Given the description of an element on the screen output the (x, y) to click on. 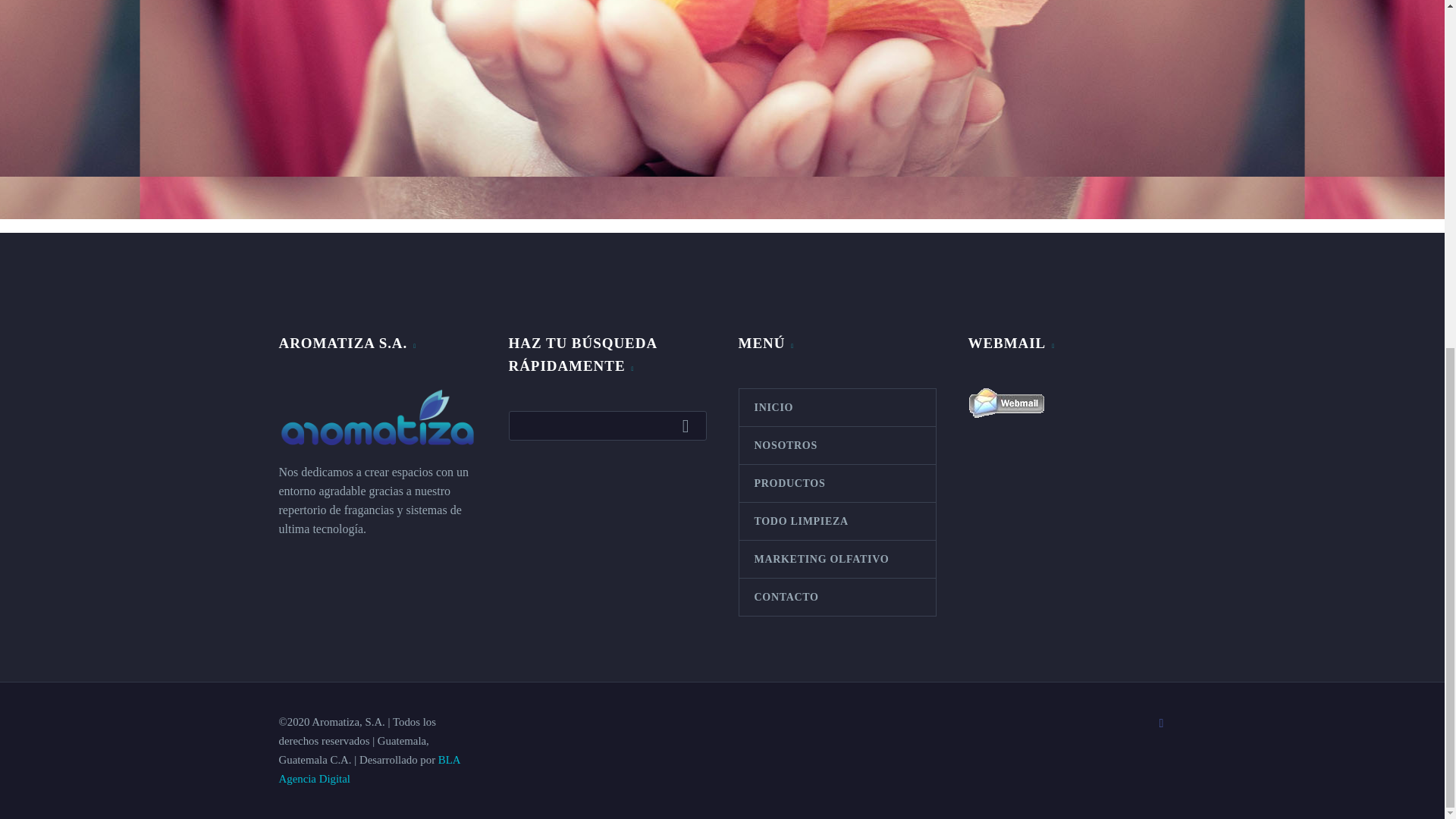
BLA Agencia Digital (369, 768)
PRODUCTOS (836, 483)
BUSCAR (689, 425)
NOSOTROS (836, 445)
MARKETING OLFATIVO (836, 559)
CONTACTO (836, 596)
Facebook (1161, 723)
TODO LIMPIEZA (836, 520)
INICIO (836, 407)
